Given the description of an element on the screen output the (x, y) to click on. 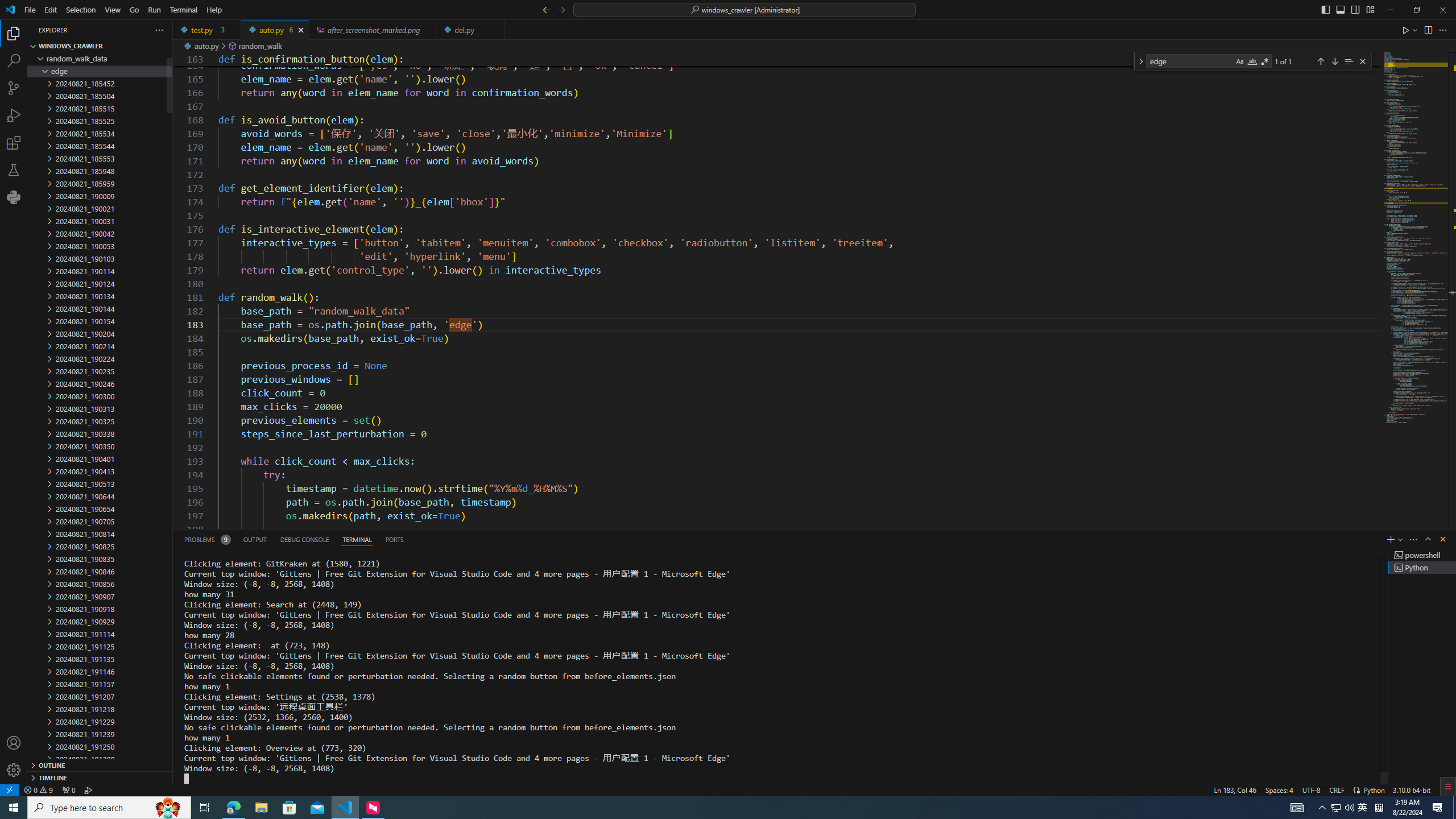
Output (Ctrl+Shift+U) (254, 539)
Ports actions (917, 539)
Title actions (1347, 9)
Explorer Section: windows_crawler (99, 46)
Debug:  (88, 789)
Terminal (183, 9)
Extensions (Ctrl+Shift+X) (13, 142)
Match Case (Alt+C) (1239, 61)
No Ports Forwarded (68, 789)
Next Match (Enter) (1333, 60)
Explorer actions (118, 29)
